Given the description of an element on the screen output the (x, y) to click on. 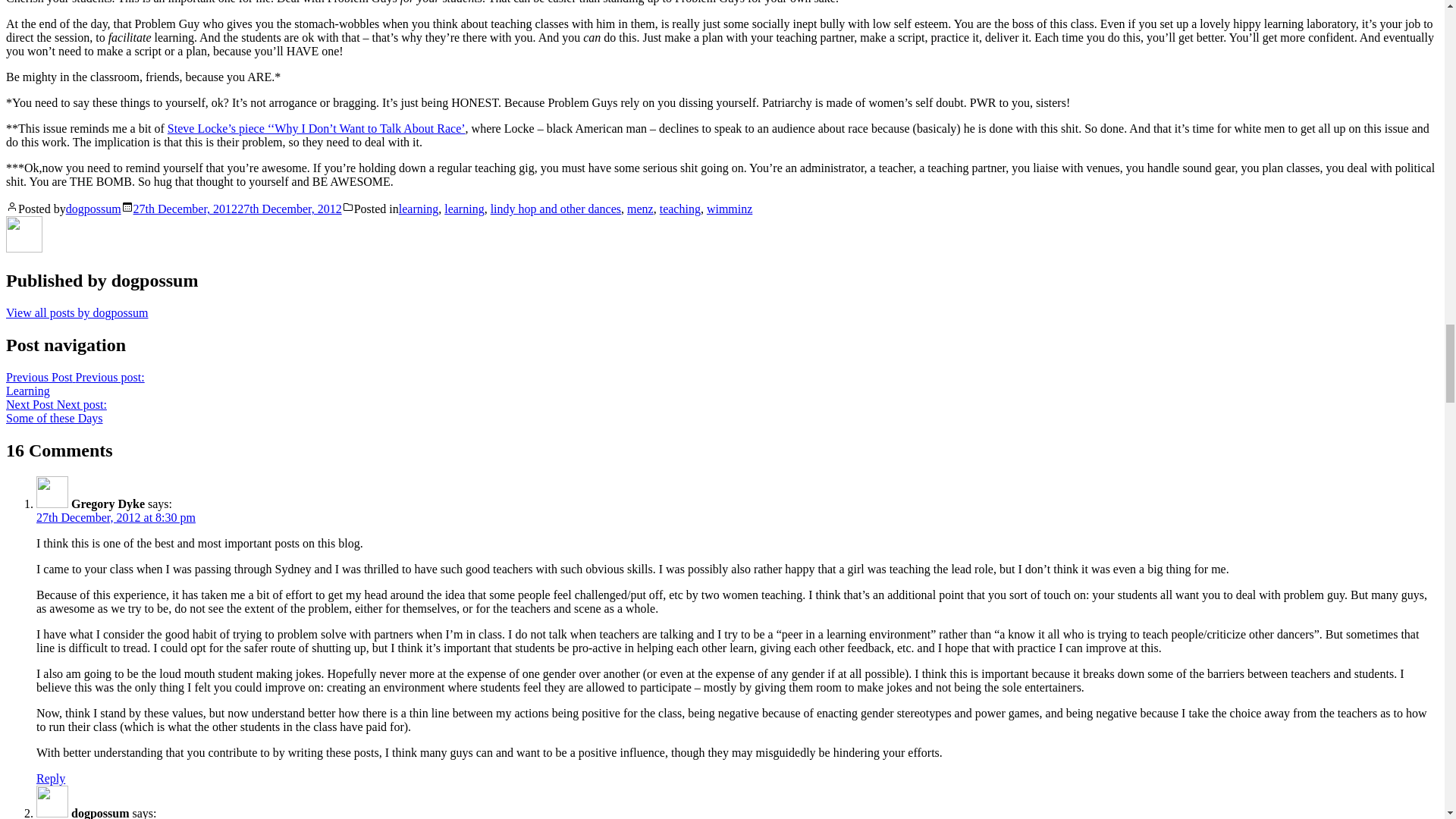
Reply (50, 778)
lindy hop and other dances (555, 208)
teaching (679, 208)
wimminz (729, 208)
View all posts by dogpossum (76, 312)
learning (55, 411)
27th December, 2012 at 8:30 pm (418, 208)
27th December, 201227th December, 2012 (115, 517)
menz (237, 208)
dogpossum (74, 384)
learning (640, 208)
